Given the description of an element on the screen output the (x, y) to click on. 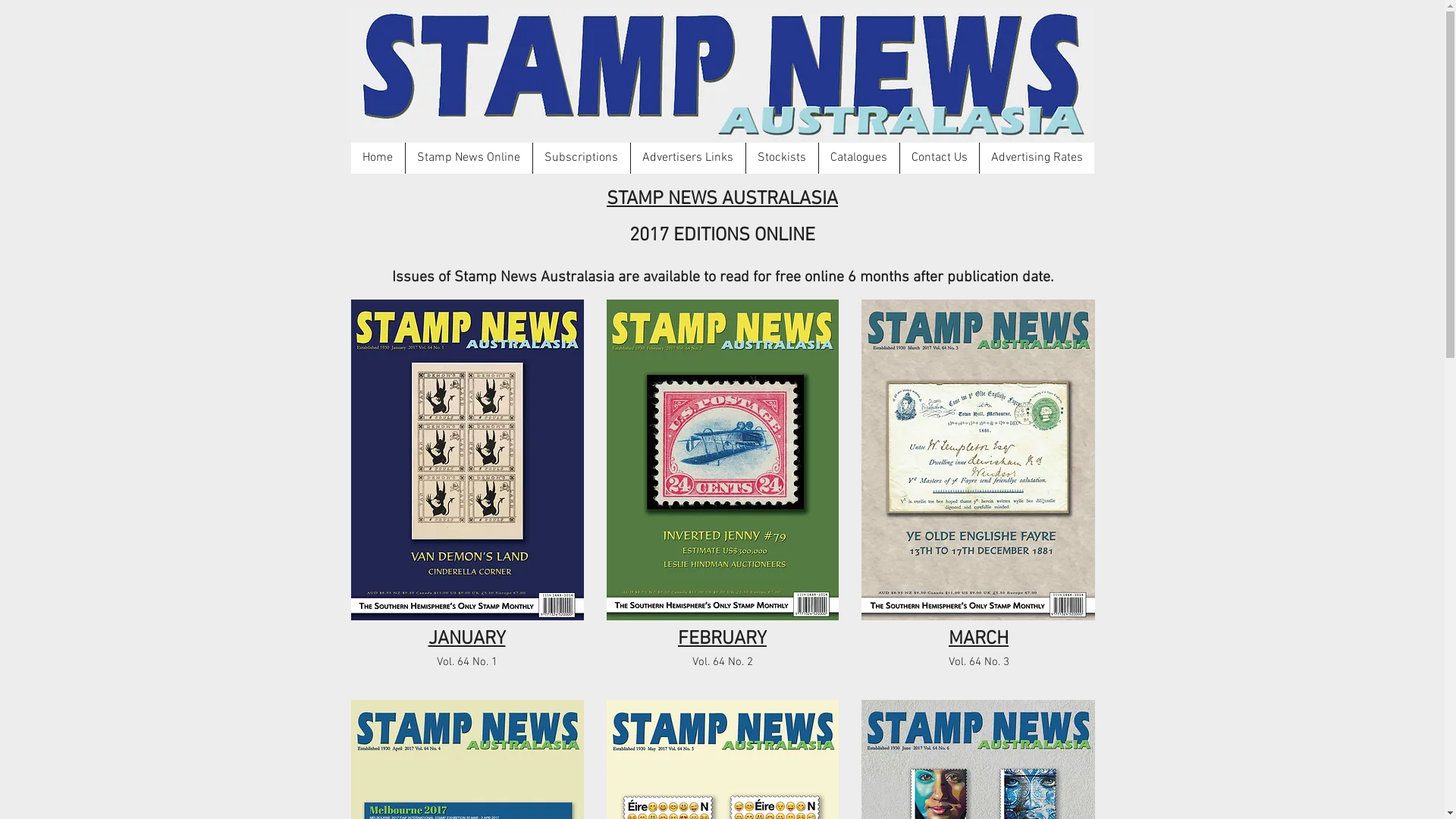
Advertisers Links Element type: text (686, 157)
Catalogues Element type: text (857, 157)
Subscriptions Element type: text (581, 157)
Contact Us Element type: text (939, 157)
MARCH Element type: text (978, 638)
Home Element type: text (377, 157)
Advertising Rates Element type: text (1035, 157)
JANUARY Element type: text (466, 638)
FEBRUARY Element type: text (721, 638)
Stockists Element type: text (780, 157)
